Given the description of an element on the screen output the (x, y) to click on. 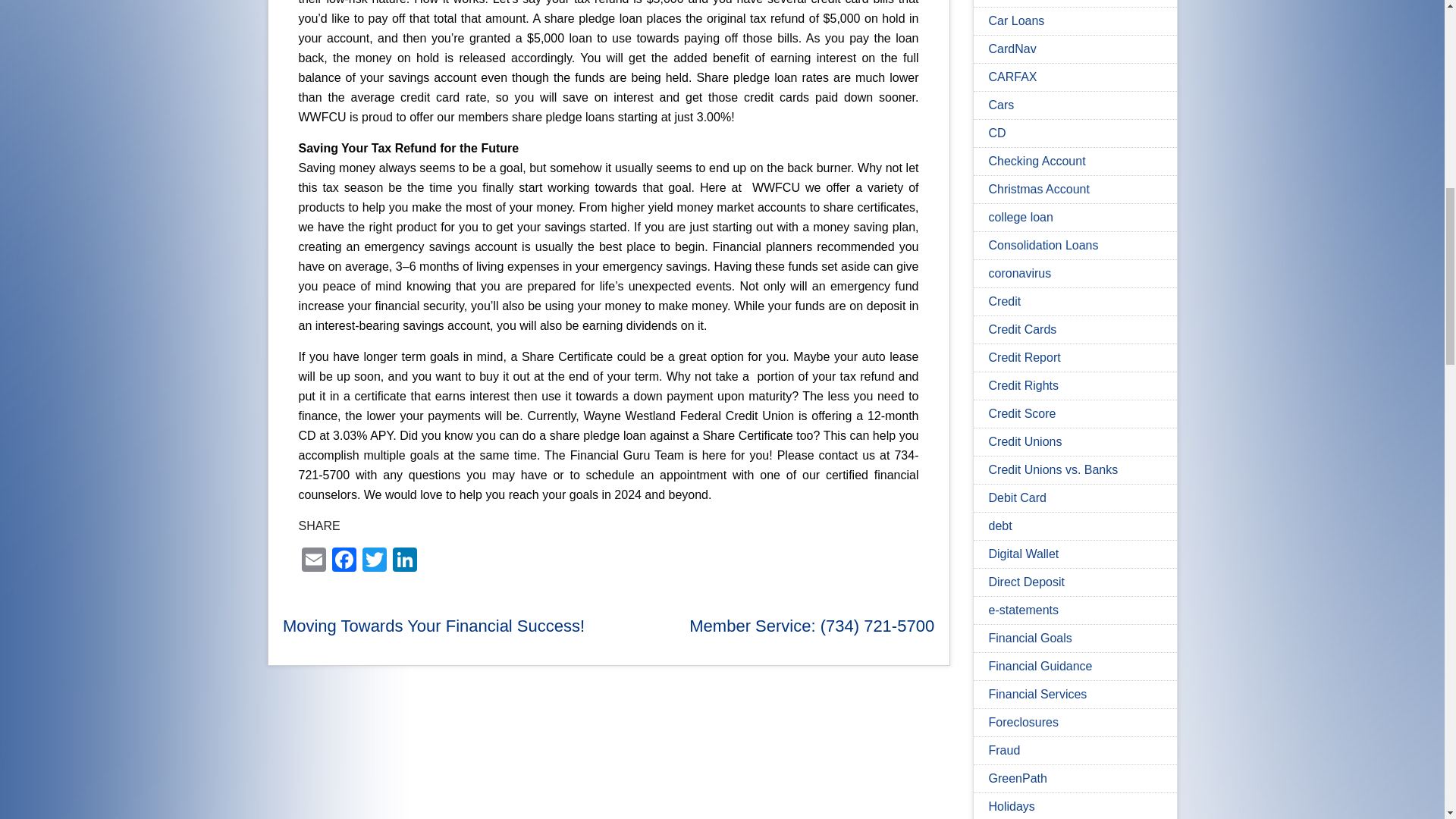
CARFAX (1012, 76)
Facebook (344, 561)
CD (997, 132)
Car Loans (1016, 20)
LinkedIn (405, 561)
Facebook (344, 561)
Twitter (374, 561)
CardNav (1012, 48)
LinkedIn (405, 561)
Twitter (374, 561)
Cars (1001, 104)
Email (313, 561)
Email (313, 561)
